Given the description of an element on the screen output the (x, y) to click on. 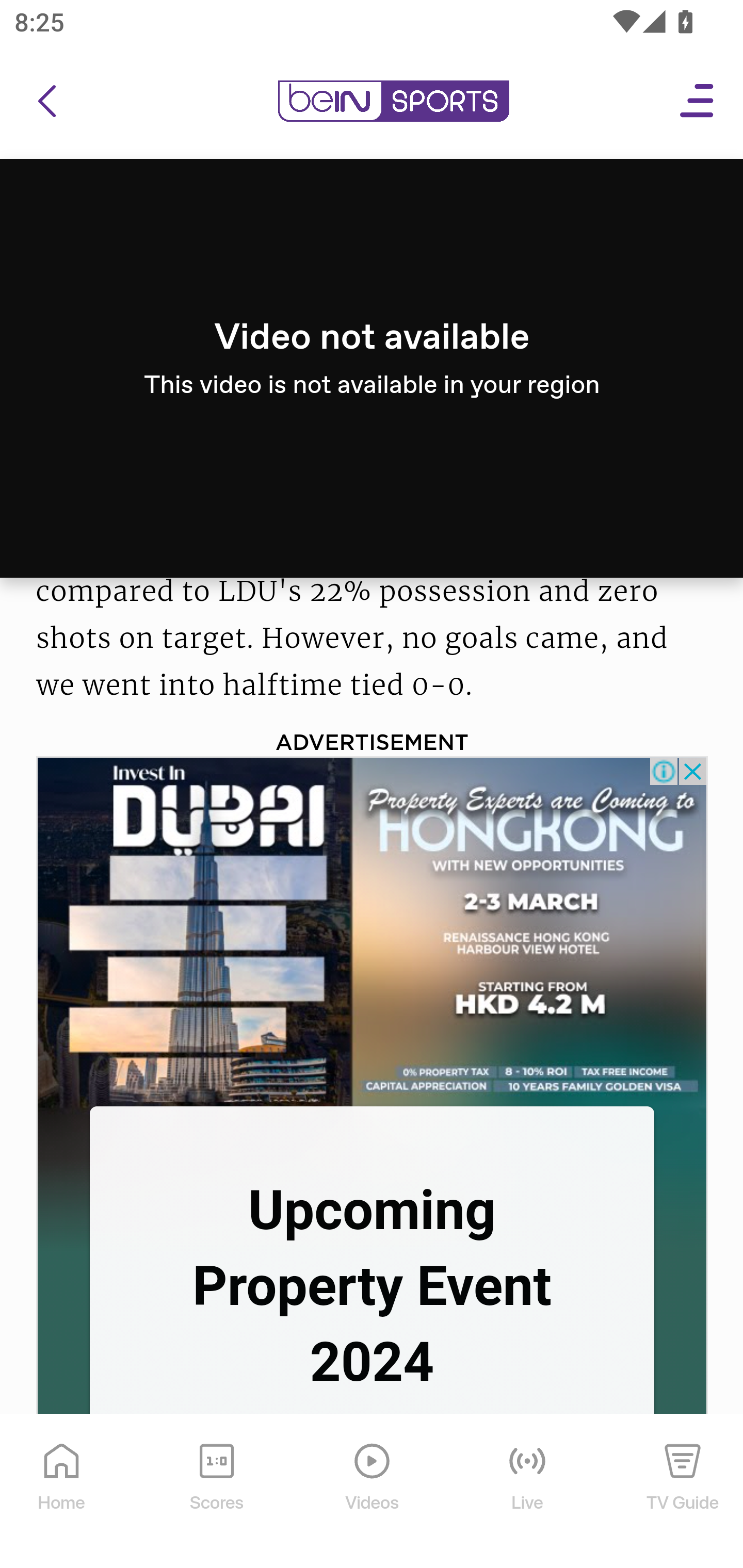
en-us?platform=mobile_android bein logo (392, 103)
icon back (46, 103)
Open Menu Icon (697, 103)
property-event (372, 931)
Home Home Icon Home (61, 1493)
Scores Scores Icon Scores (216, 1493)
Videos Videos Icon Videos (372, 1493)
TV Guide TV Guide Icon TV Guide (682, 1493)
